Given the description of an element on the screen output the (x, y) to click on. 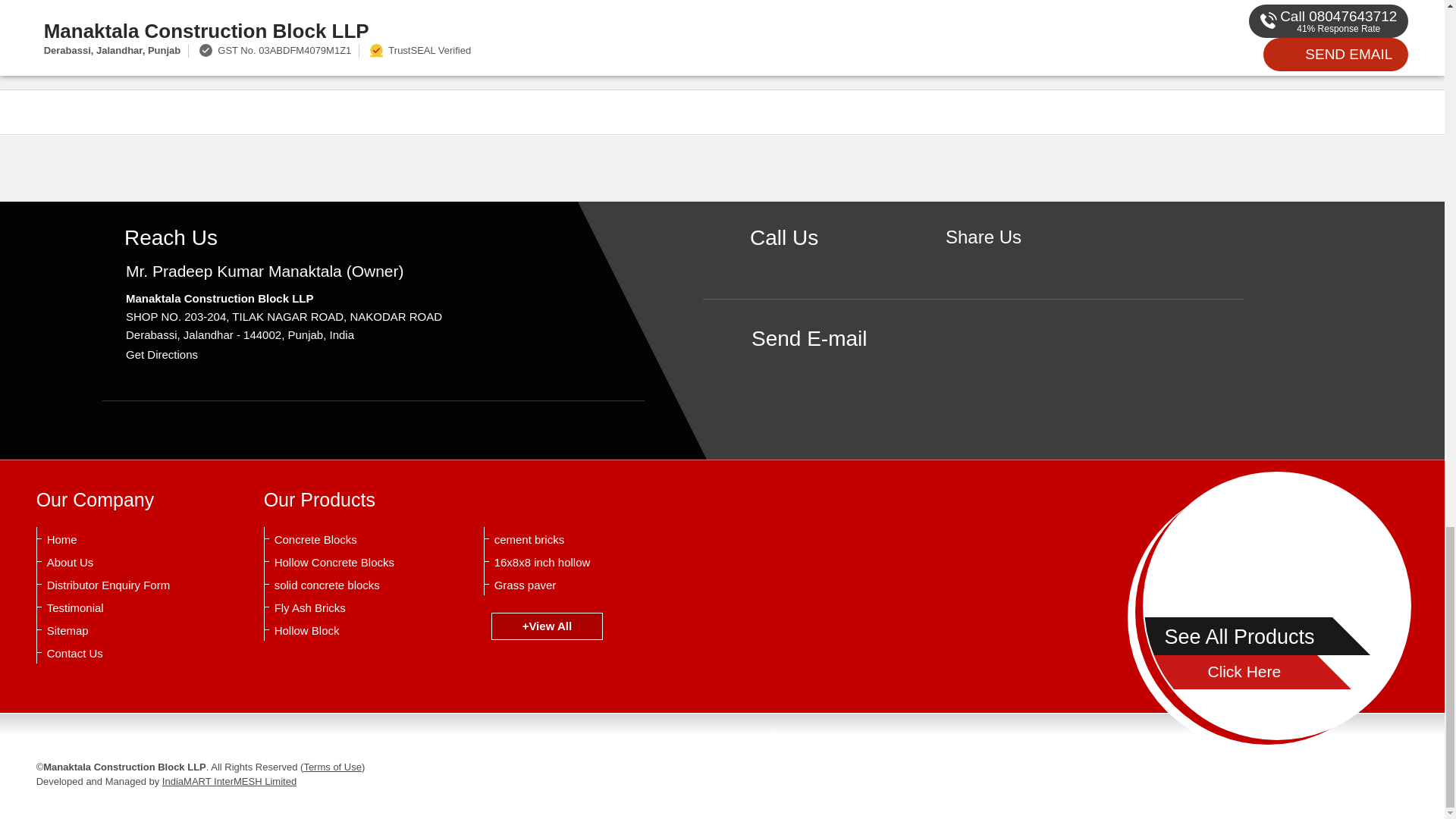
Contact Us (121, 653)
LinkedIn (1029, 262)
Facebook (983, 262)
Our Products (319, 499)
Sitemap (121, 630)
Distributor Enquiry Form (121, 585)
Twitter (1006, 262)
About Us (121, 562)
Get Directions (161, 354)
solid concrete blocks (348, 585)
Home (121, 539)
Hollow Concrete Blocks (348, 562)
Testimonial (121, 607)
Concrete Blocks (348, 539)
